Given the description of an element on the screen output the (x, y) to click on. 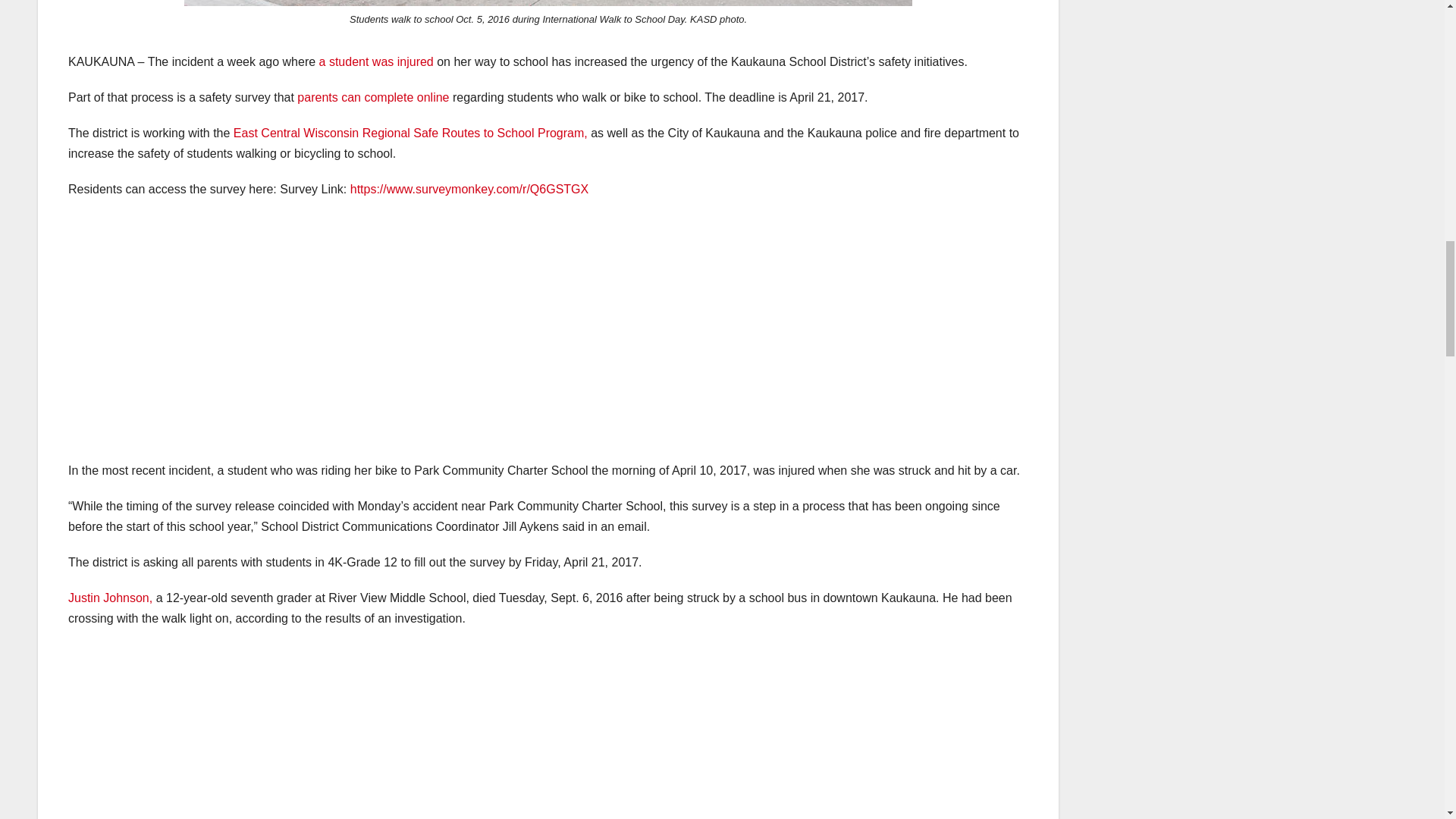
Justin Johnson, (110, 597)
a student was injured (378, 61)
parents can complete online (374, 97)
